Given the description of an element on the screen output the (x, y) to click on. 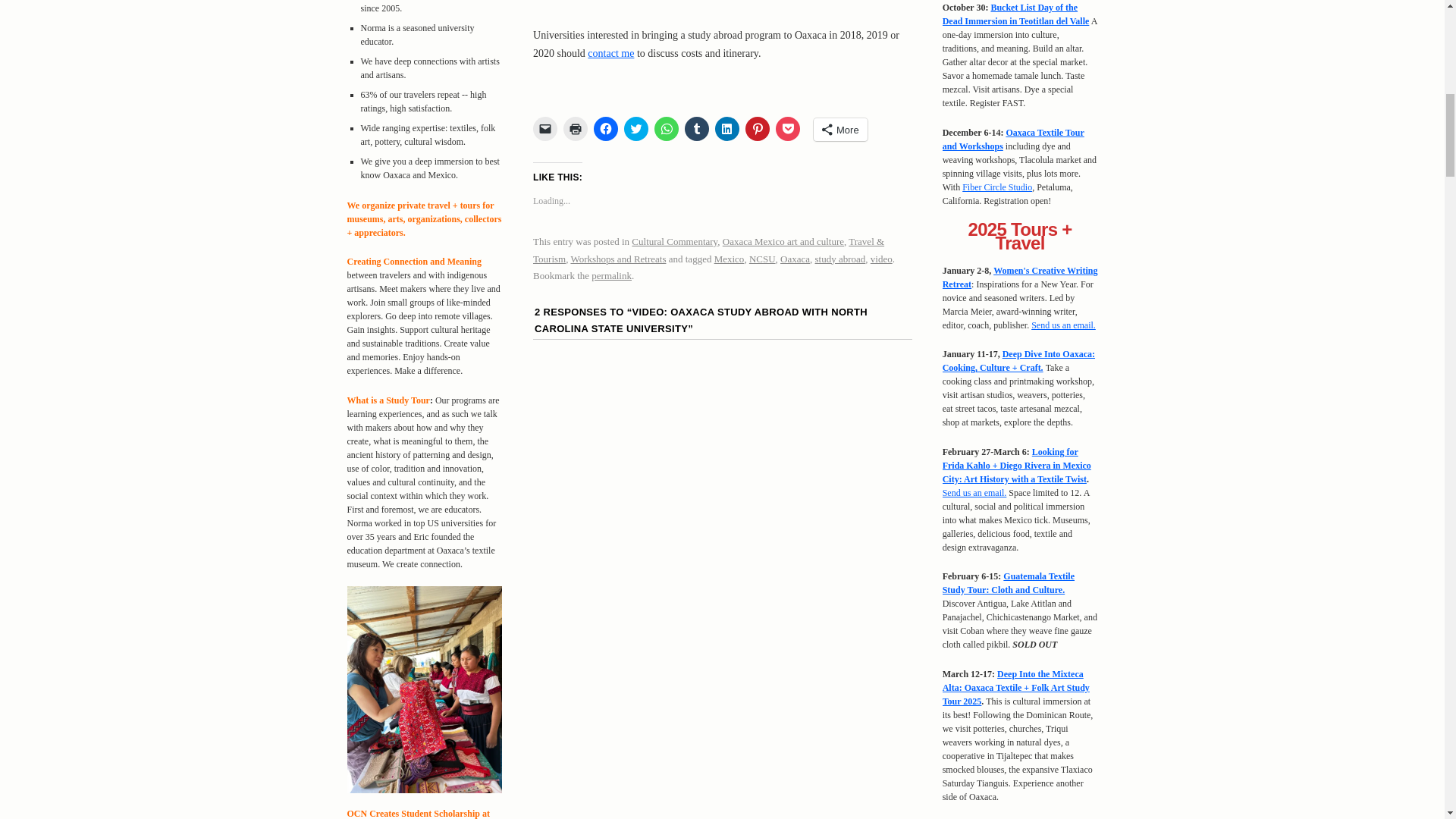
Mexico (729, 258)
contact me (610, 52)
Oaxaca Mexico art and culture (783, 241)
Click to email a link to a friend (544, 128)
NCSU (762, 258)
Click to share on Pinterest (757, 128)
Oaxaca (794, 258)
Click to share on Pocket (787, 128)
Workshops and Retreats (617, 258)
Click to share on Tumblr (696, 128)
